Given the description of an element on the screen output the (x, y) to click on. 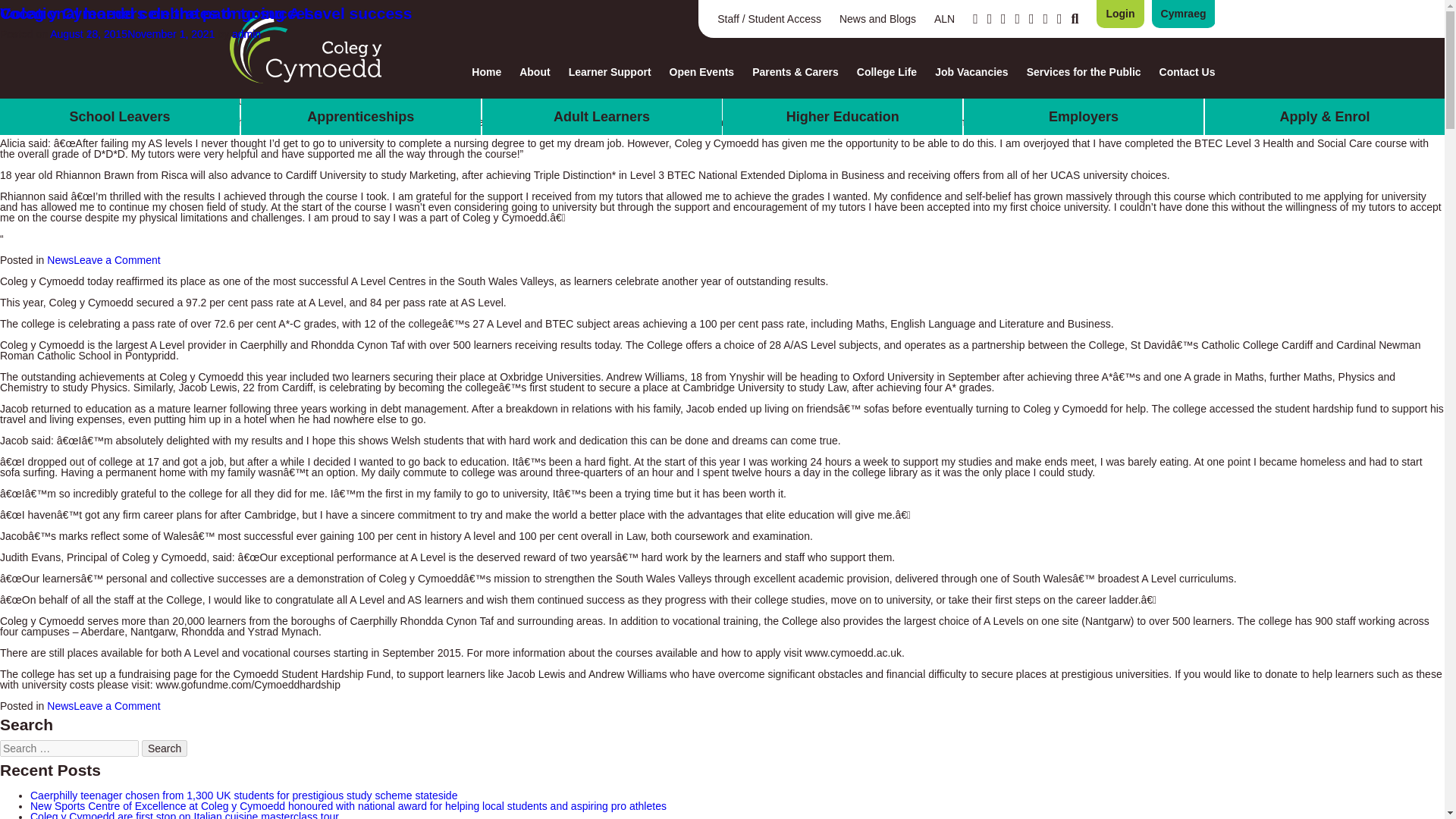
Search Website (1074, 18)
Link takes you to our LinkedIn page (1003, 18)
Learner Support (610, 71)
Link takes you to our Facebook page (975, 18)
Link takes you to our YouTube page (989, 18)
Accessibility (1059, 18)
Link takes you to our Twitter page (1017, 18)
Accessibility (1059, 18)
Link takes you to our Twitter page (1017, 18)
Cymraeg (1183, 13)
Home (486, 71)
Apply Now (1119, 13)
News and Blogs (877, 19)
About (534, 71)
Search this website (1074, 18)
